Given the description of an element on the screen output the (x, y) to click on. 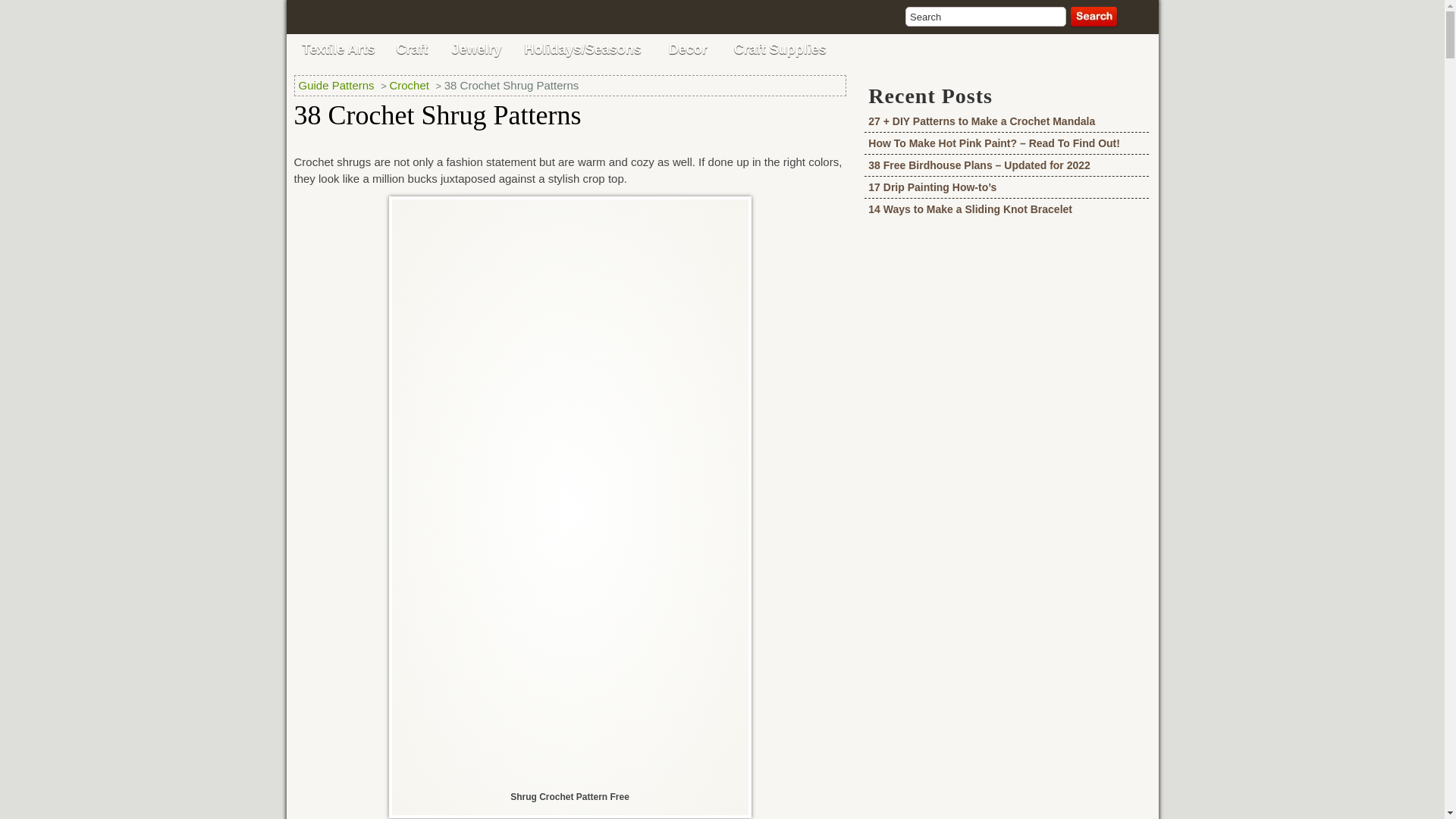
Craft (412, 49)
Textile Arts (338, 49)
Go to Guide Patterns. (338, 84)
Search (985, 16)
Go to the Crochet category archives. (410, 84)
